Given the description of an element on the screen output the (x, y) to click on. 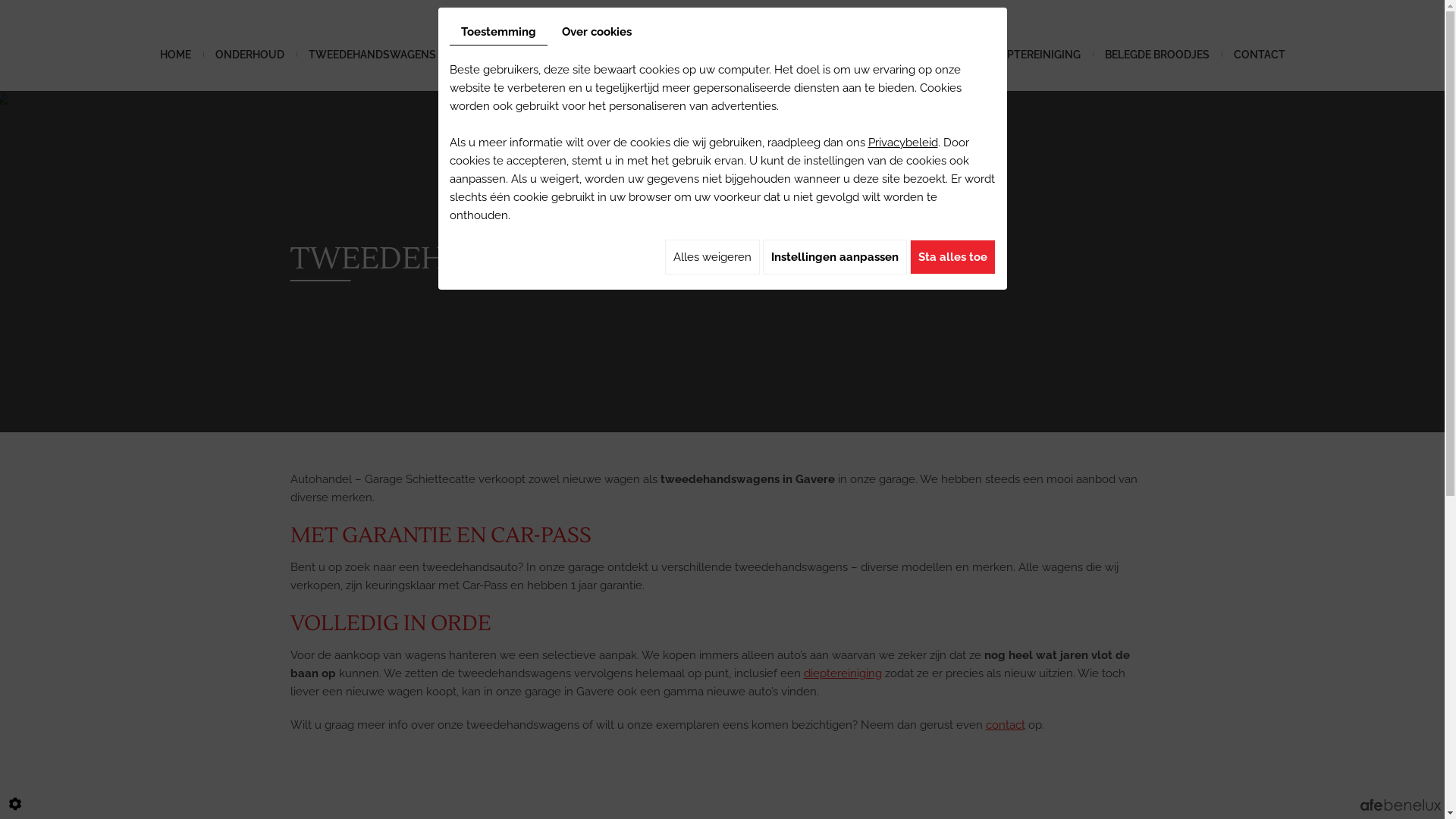
Over cookies Element type: text (596, 31)
Cookie-instelling bewerken Element type: text (14, 803)
ONDERHOUD Element type: text (249, 54)
contact Element type: text (1005, 724)
CONTACT Element type: text (1258, 54)
MOBILHOME Element type: text (932, 54)
dieptereiniging Element type: text (842, 673)
Alles weigeren Element type: text (711, 256)
DIEPTEREINIGING Element type: text (1035, 54)
BANDENSERVICE Element type: text (502, 54)
Privacybeleid Element type: text (902, 142)
Autohandel-Garage Schiettecatte - GARAGE Element type: hover (761, 45)
Toestemming Element type: text (497, 31)
TWEEDEHANDSWAGENS Element type: text (371, 54)
BELEGDE BROODJES Element type: text (1156, 54)
Instellingen aanpassen Element type: text (834, 256)
CAR DETAILING Element type: text (610, 54)
HOME Element type: text (174, 54)
Sta alles toe Element type: text (952, 256)
